Given the description of an element on the screen output the (x, y) to click on. 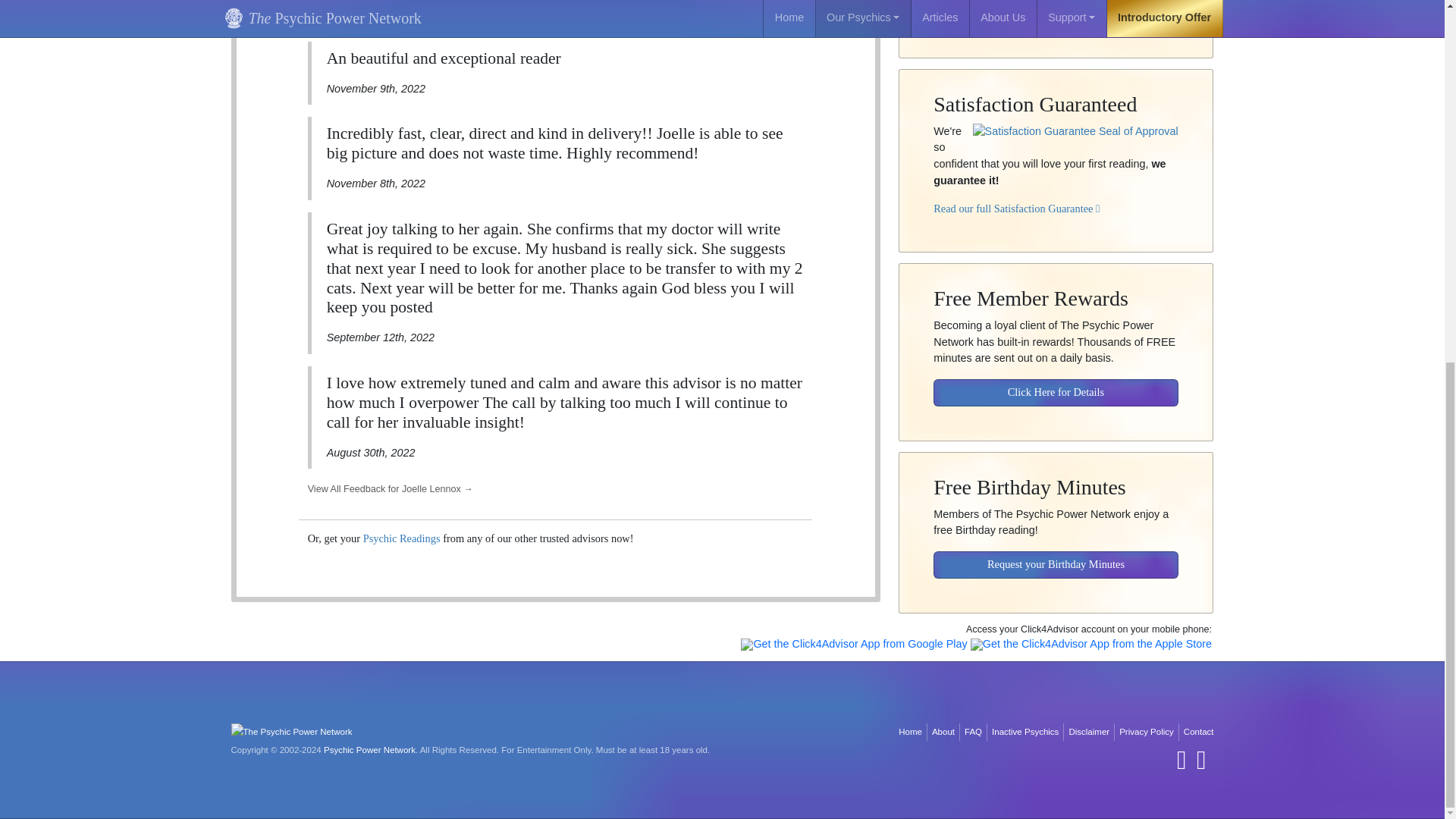
Home (909, 732)
Psychic Readings (401, 538)
